Given the description of an element on the screen output the (x, y) to click on. 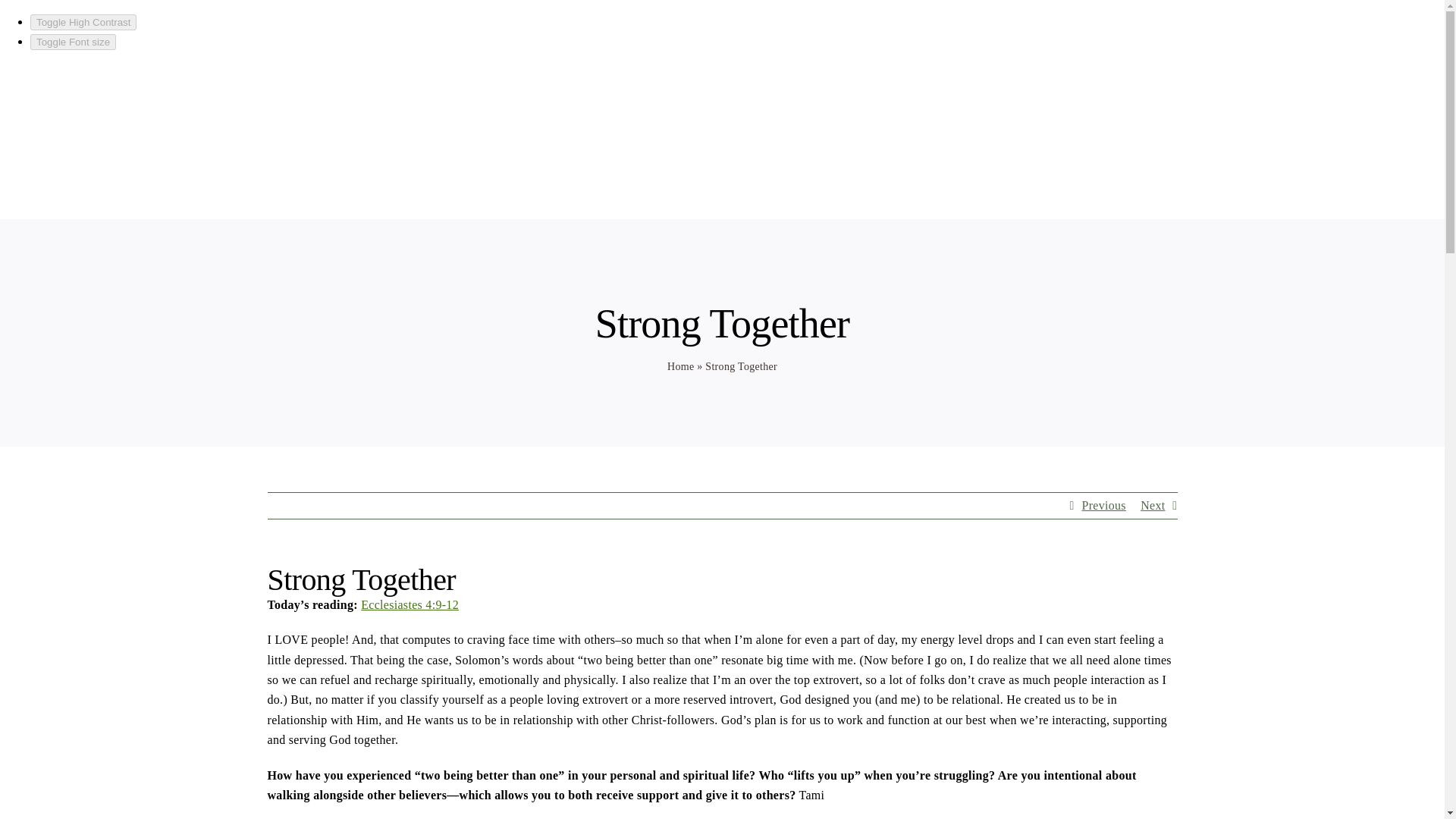
Previous (1103, 505)
Home (707, 131)
Shop (1063, 131)
Ecclesiastes 4:9-12 (409, 604)
Toggle Font size (73, 41)
Get Involved (1146, 131)
Toggle High Contrast (83, 22)
Events (870, 131)
Home (680, 366)
About Us (782, 131)
Next (1152, 505)
